Given the description of an element on the screen output the (x, y) to click on. 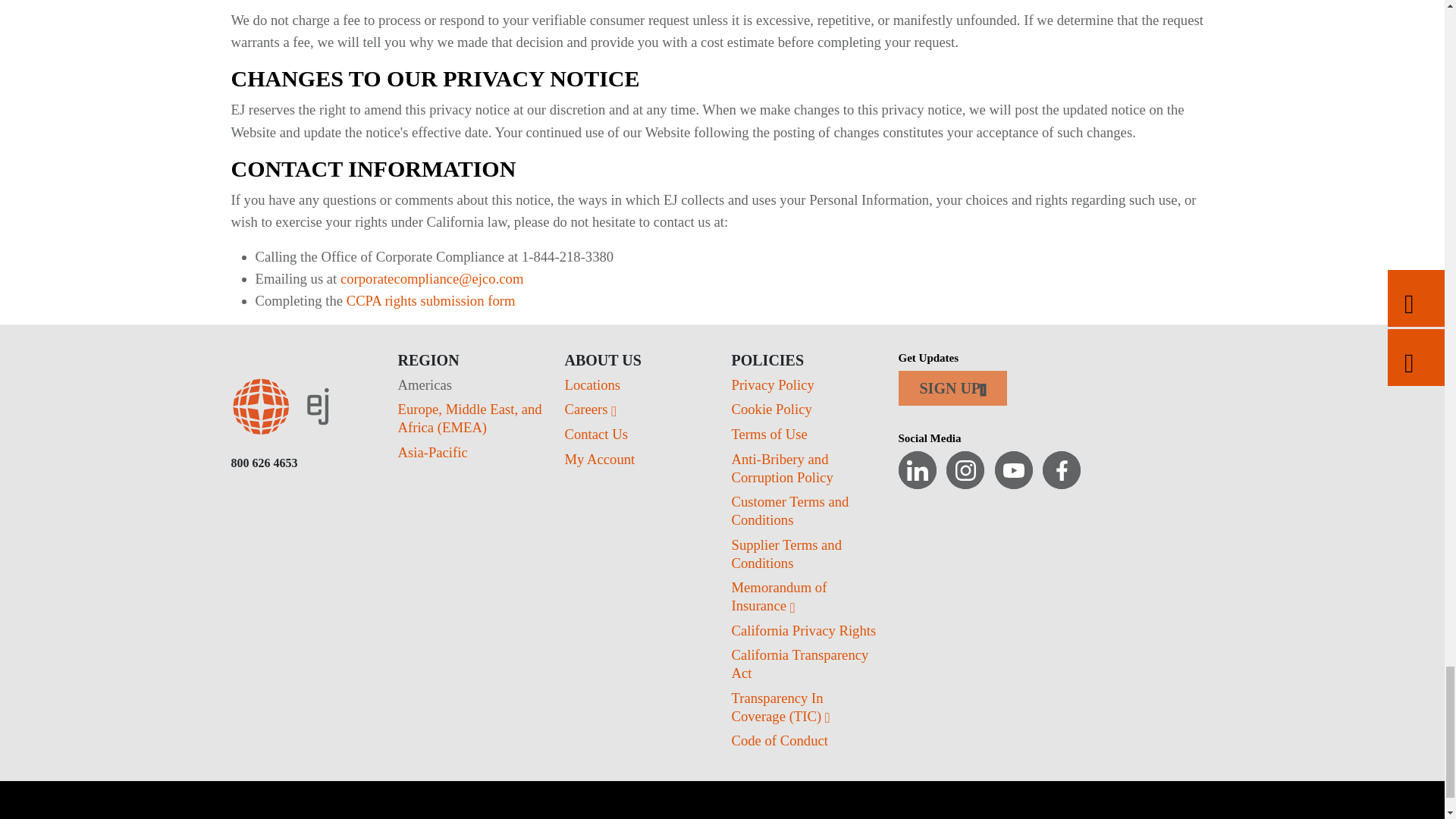
Follow us on Facebook (1061, 469)
Follow us on Instagram (965, 469)
Follow us on LinkedIn (917, 469)
Subscribe to us on YouTube (1013, 469)
